Given the description of an element on the screen output the (x, y) to click on. 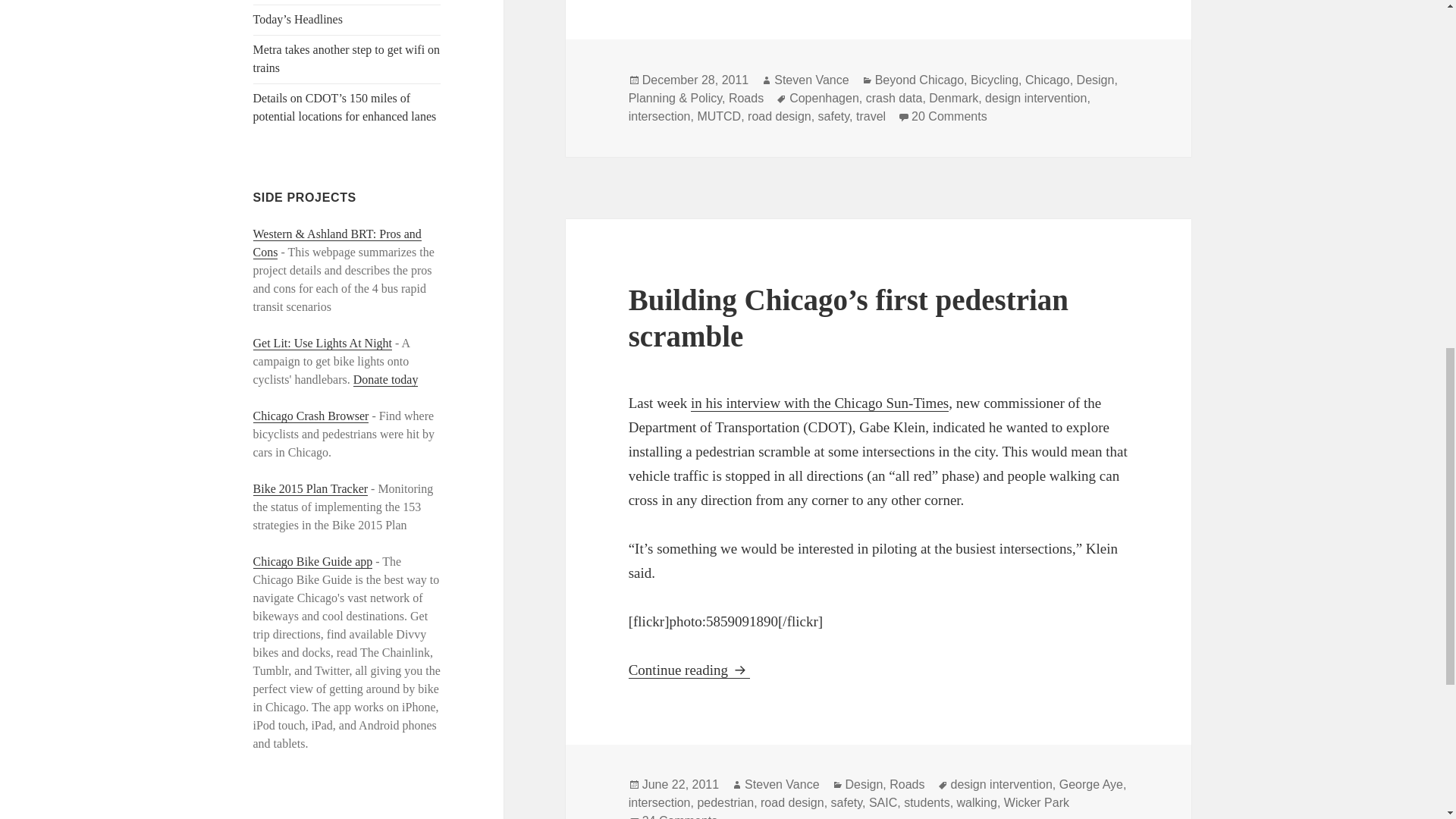
Chicago Crash Browser (311, 416)
Beyond Chicago (919, 79)
MUTCD (719, 116)
crash data (894, 98)
Design (1096, 79)
design intervention (1035, 98)
Donate today (386, 379)
Copenhagen (824, 98)
road design (779, 116)
Roads (745, 98)
Bicycling (994, 79)
Metra takes another step to get wifi on trains (347, 58)
Get Lit: Use Lights At Night (323, 343)
December 28, 2011 (695, 79)
Bike 2015 Plan Tracker (310, 489)
